Given the description of an element on the screen output the (x, y) to click on. 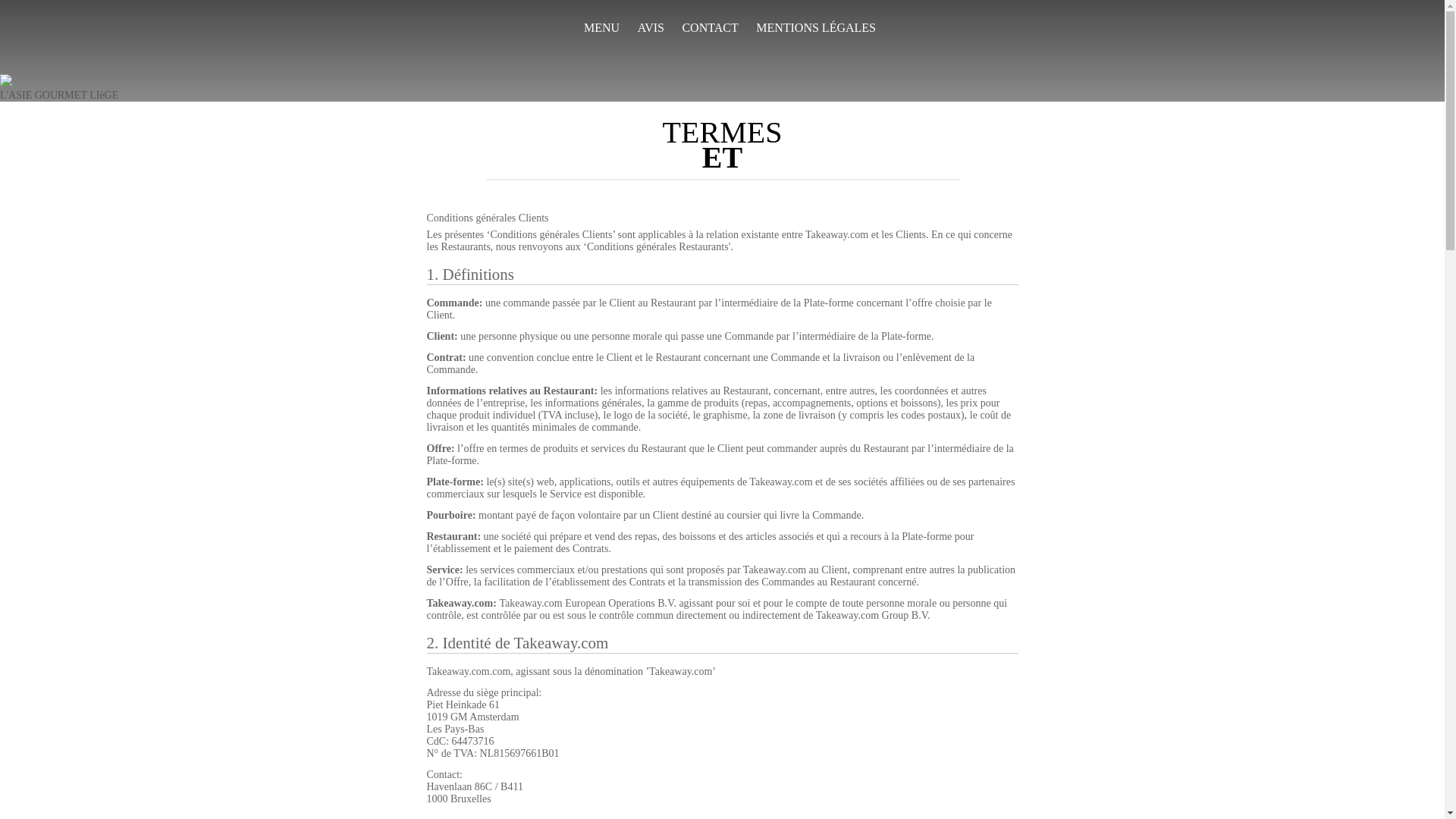
CONTACT Element type: text (709, 27)
MENU Element type: text (601, 27)
AVIS Element type: text (650, 27)
